Given the description of an element on the screen output the (x, y) to click on. 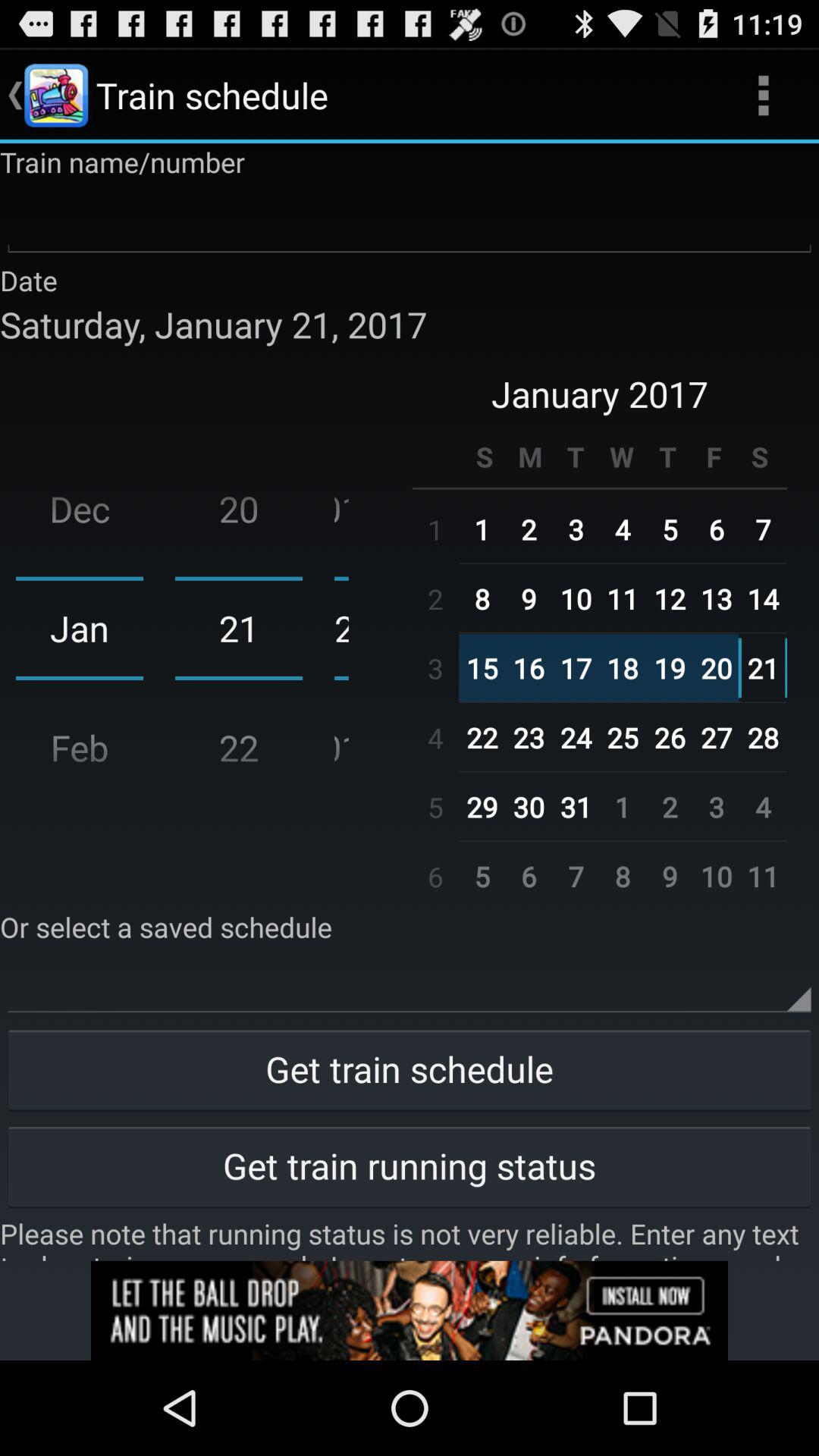
enter train name or number (409, 221)
